Given the description of an element on the screen output the (x, y) to click on. 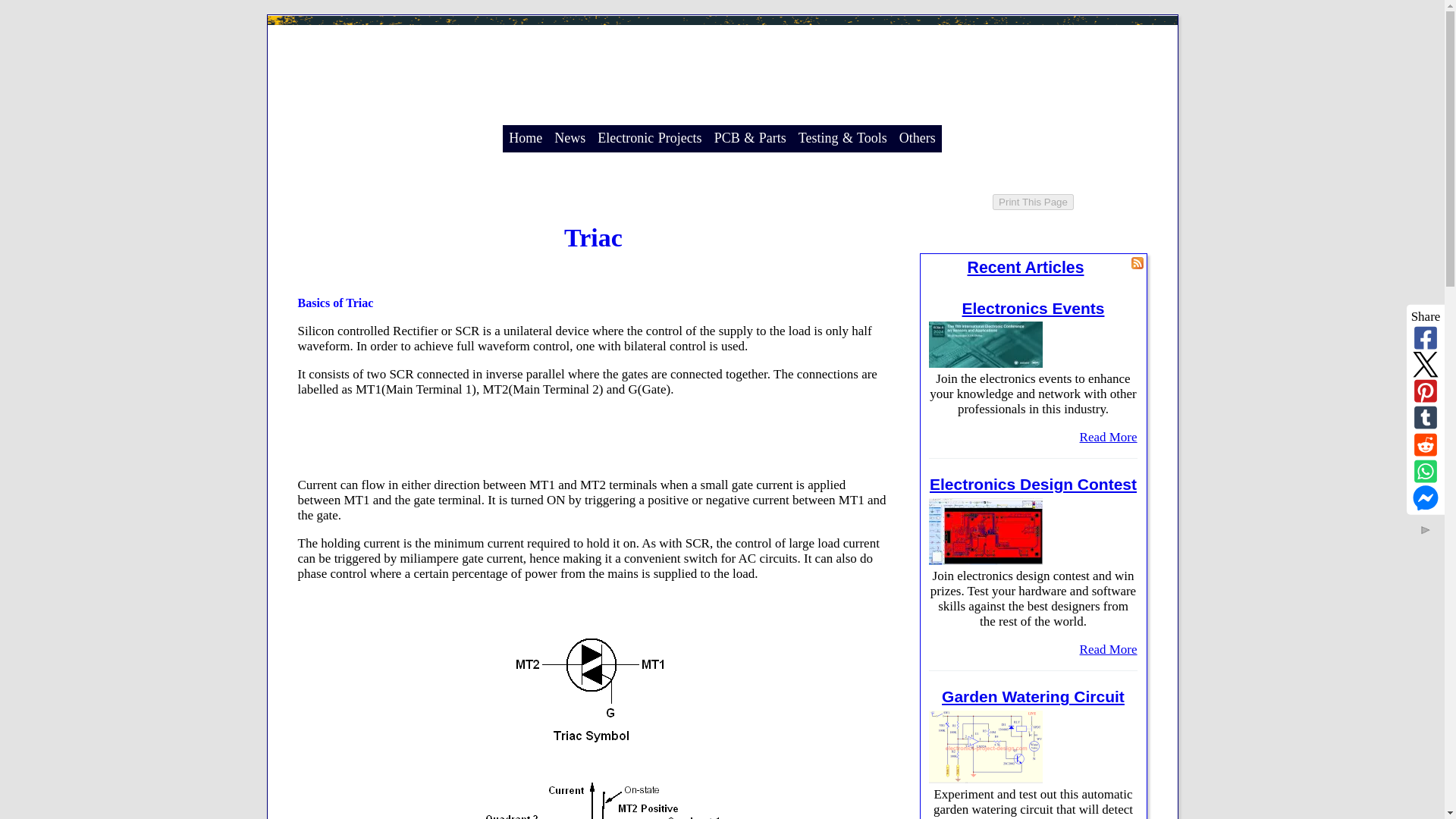
Home (525, 138)
